Given the description of an element on the screen output the (x, y) to click on. 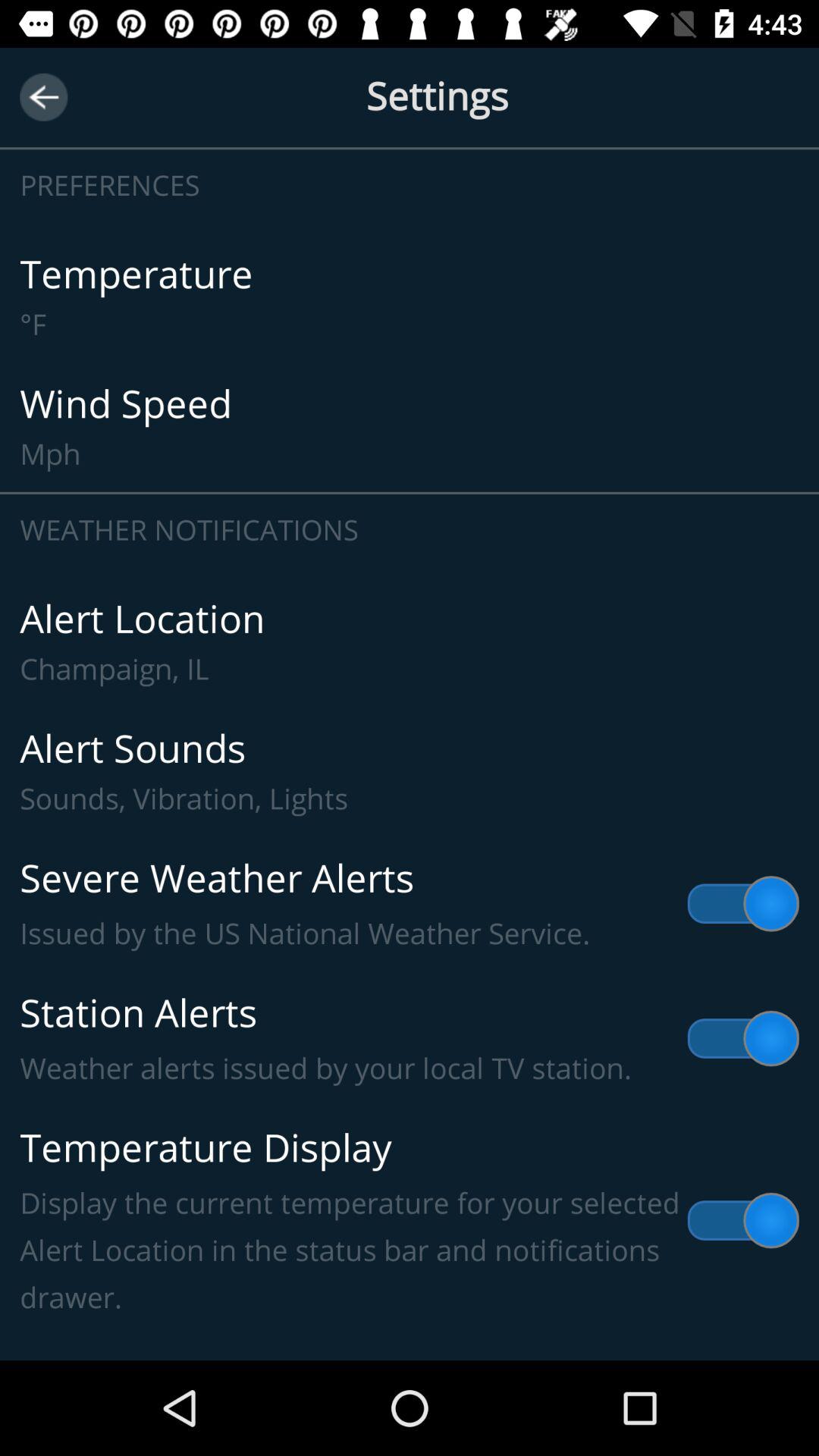
click on symbol just before settings (43, 97)
